Given the description of an element on the screen output the (x, y) to click on. 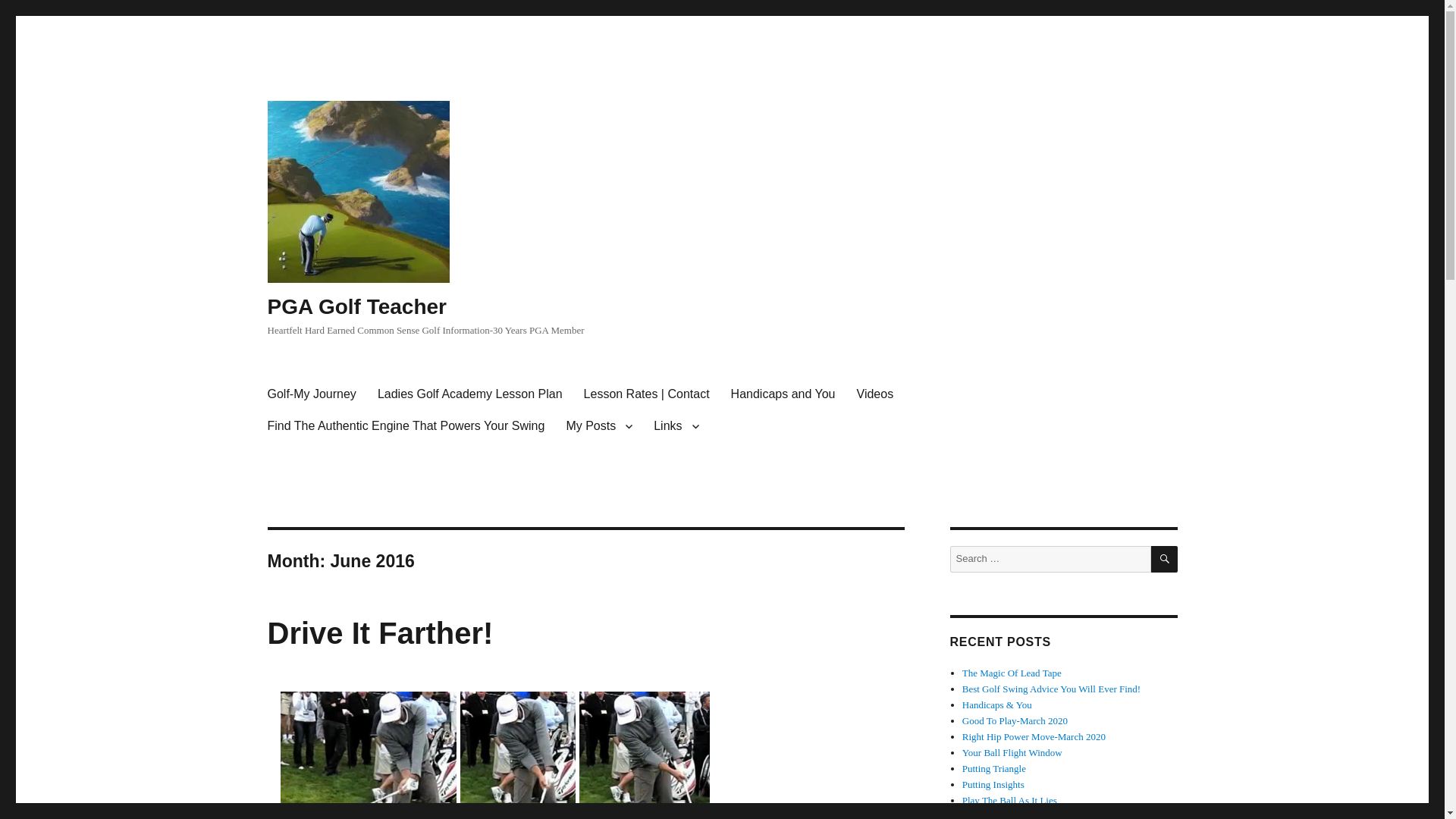
Drive It Farther! (379, 633)
PGA Golf Teacher (356, 306)
Find The Authentic Engine That Powers Your Swing (405, 426)
Golf-My Journey (311, 394)
Ladies Golf Academy Lesson Plan (469, 394)
Videos (874, 394)
My Posts (598, 426)
Links (676, 426)
Handicaps and You (782, 394)
